Given the description of an element on the screen output the (x, y) to click on. 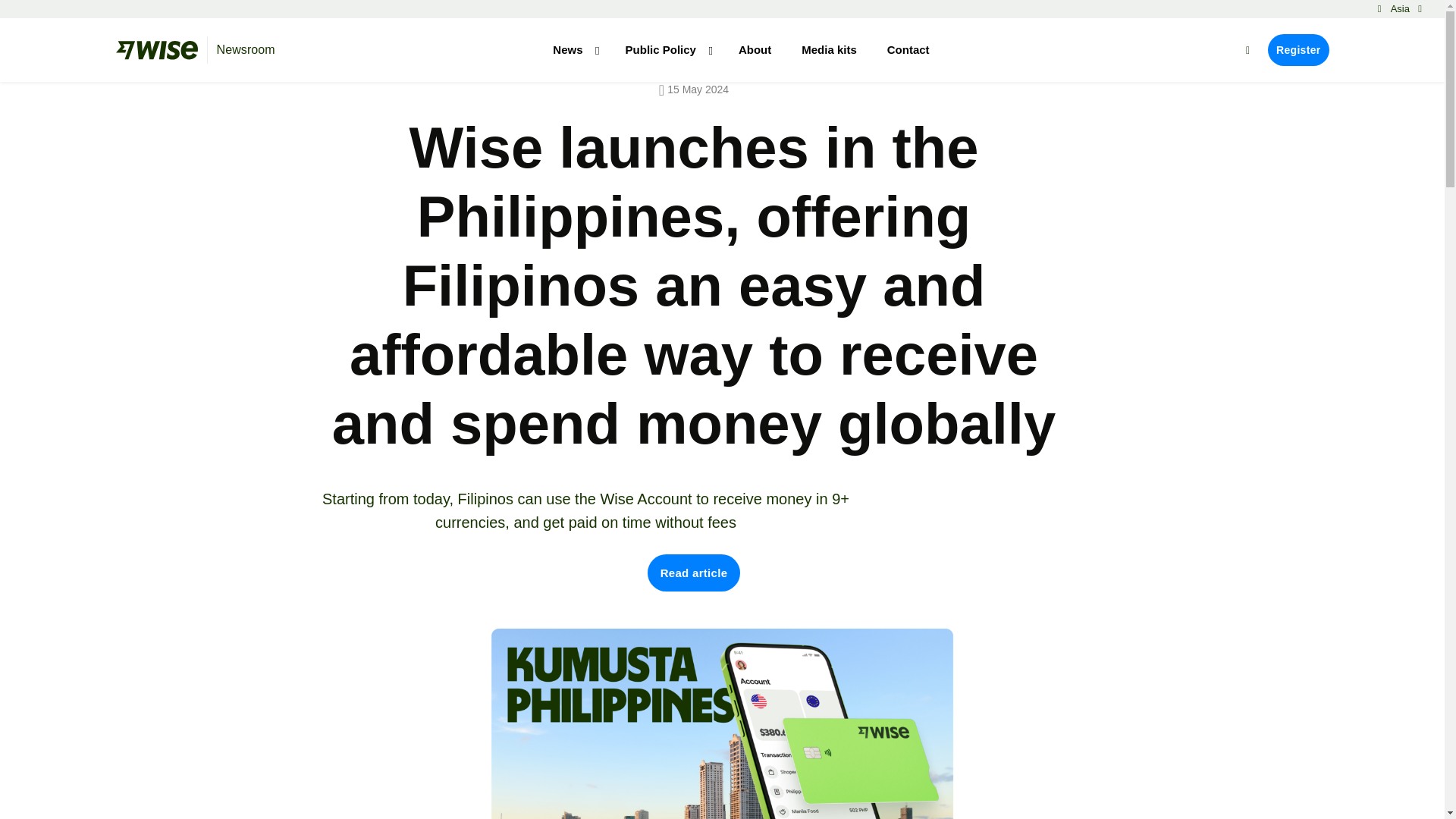
About (754, 49)
News (573, 61)
Newsroom (247, 49)
Contact (908, 49)
Asia (1399, 9)
Public Policy (666, 61)
Media kits (829, 49)
